Given the description of an element on the screen output the (x, y) to click on. 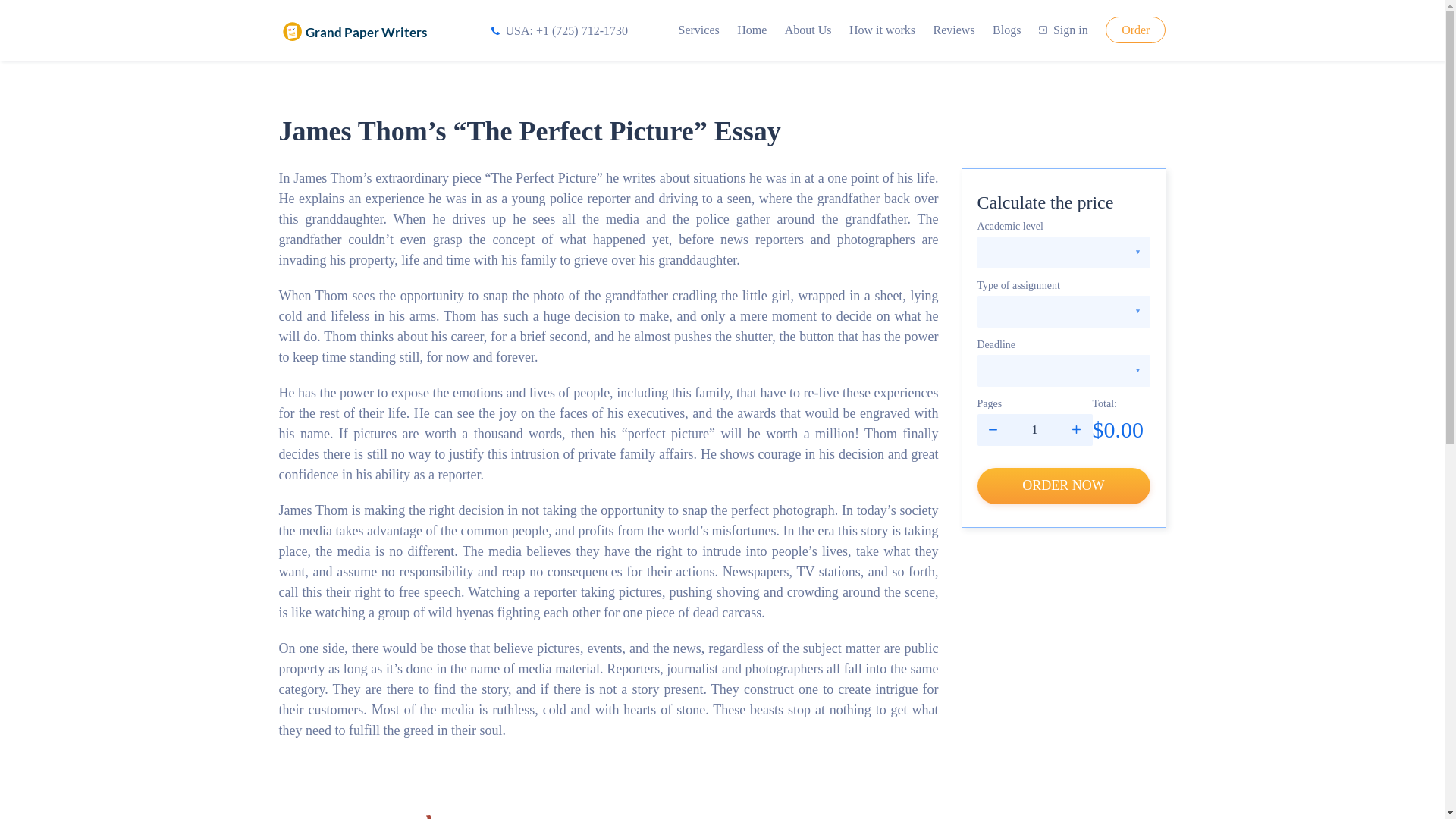
Blogs (1006, 29)
1 (1034, 429)
Reviews (954, 29)
How it works (881, 29)
Sign in (1063, 29)
Order (1135, 29)
About Us (807, 29)
Home (751, 29)
